Given the description of an element on the screen output the (x, y) to click on. 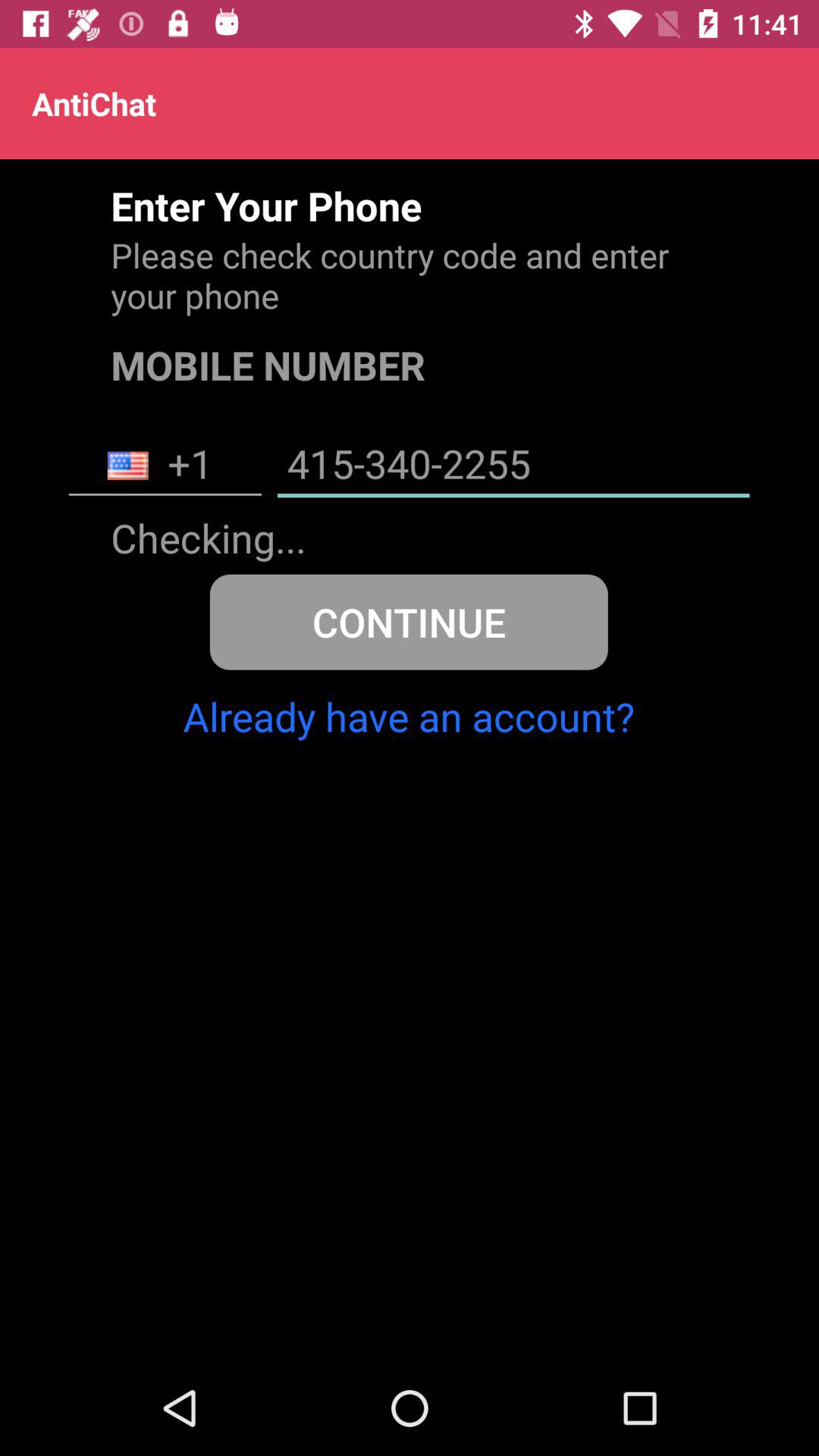
turn off icon below the username available icon (408, 621)
